Given the description of an element on the screen output the (x, y) to click on. 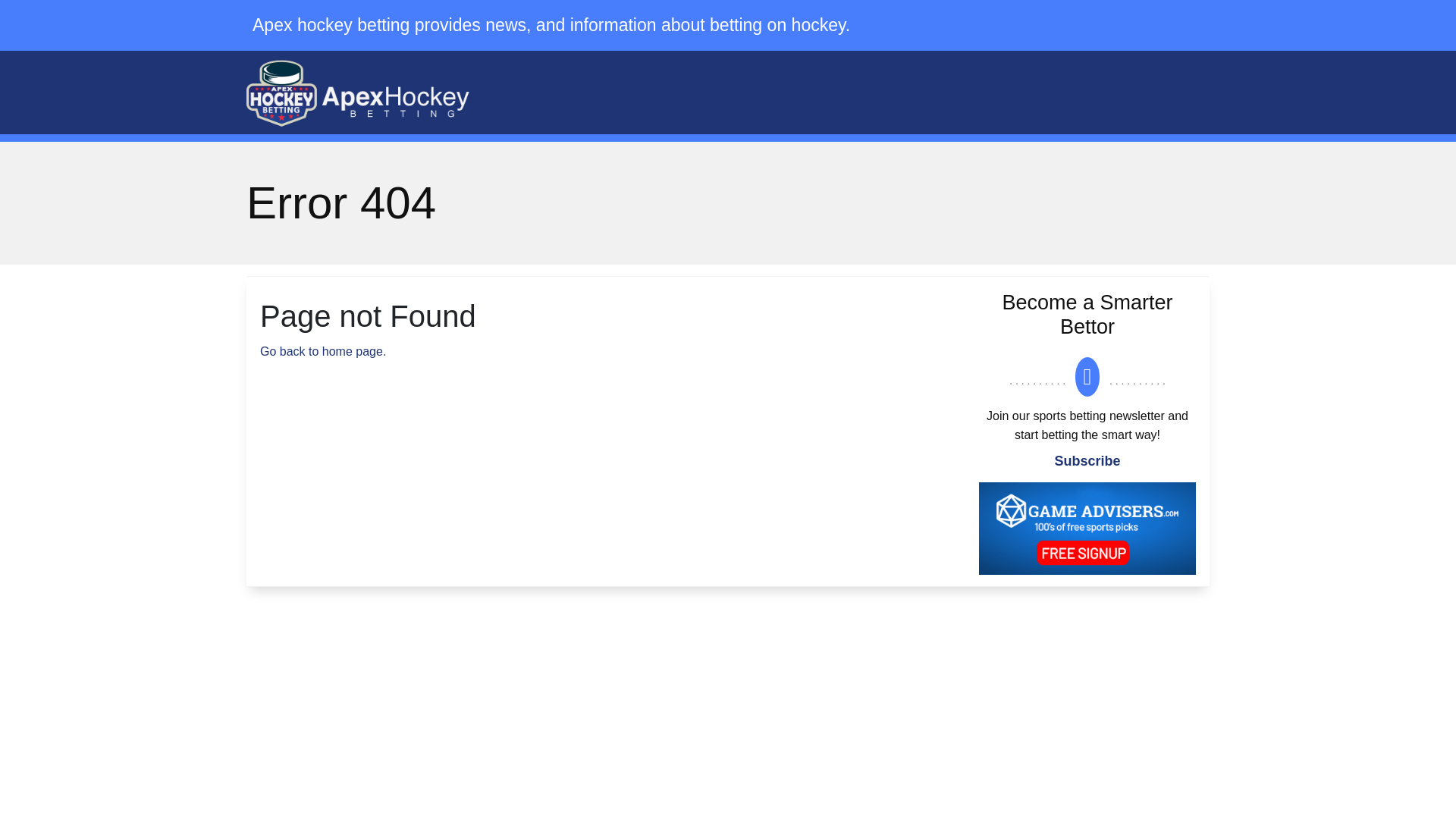
Go back to home page. (322, 350)
Subscribe (1086, 460)
